Given the description of an element on the screen output the (x, y) to click on. 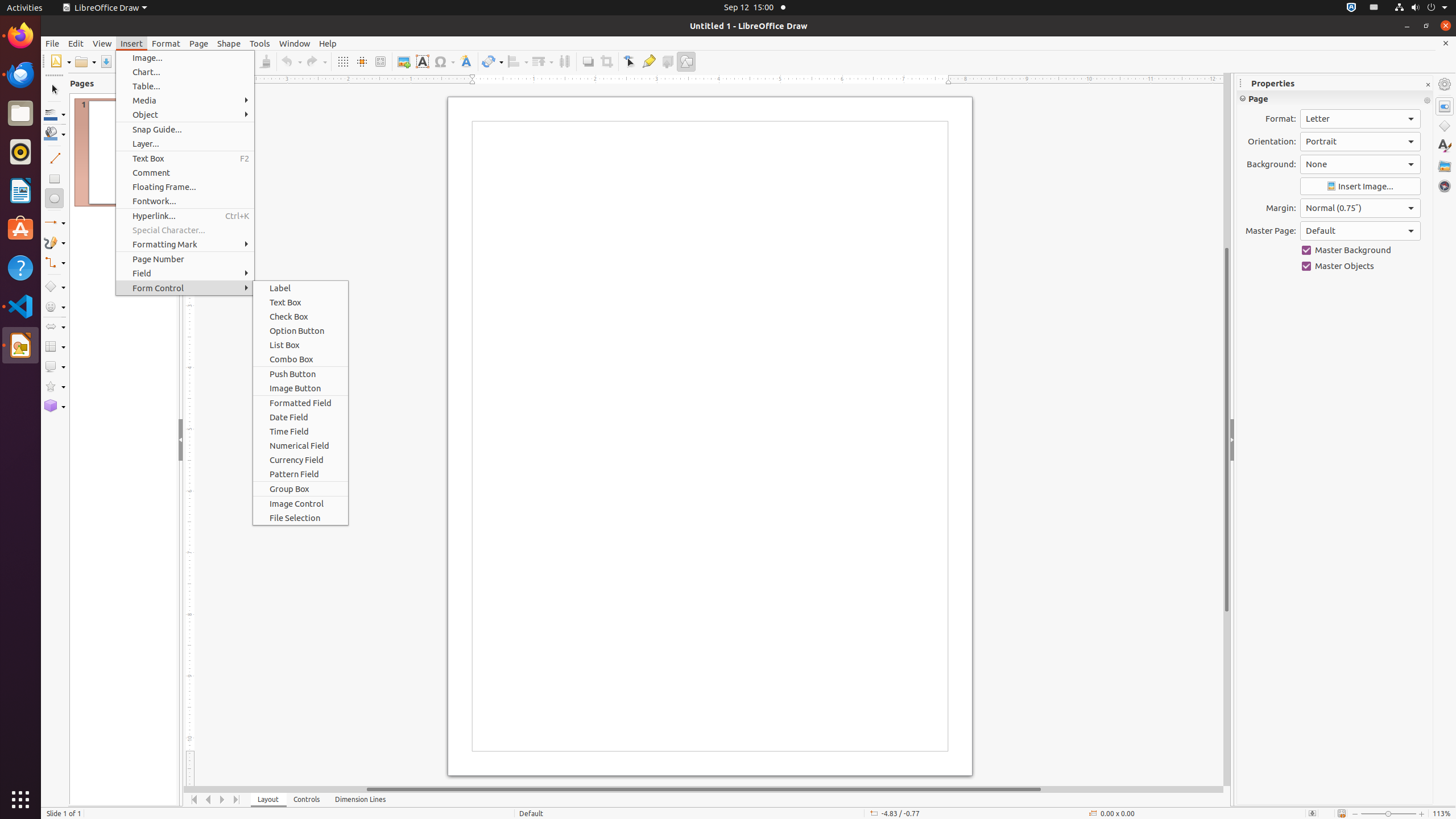
Master Objects Element type: check-box (1360, 265)
Date Field Element type: check-menu-item (300, 417)
Ubuntu Software Element type: push-button (20, 229)
Check Box Element type: check-menu-item (300, 316)
Select Element type: push-button (53, 89)
